Given the description of an element on the screen output the (x, y) to click on. 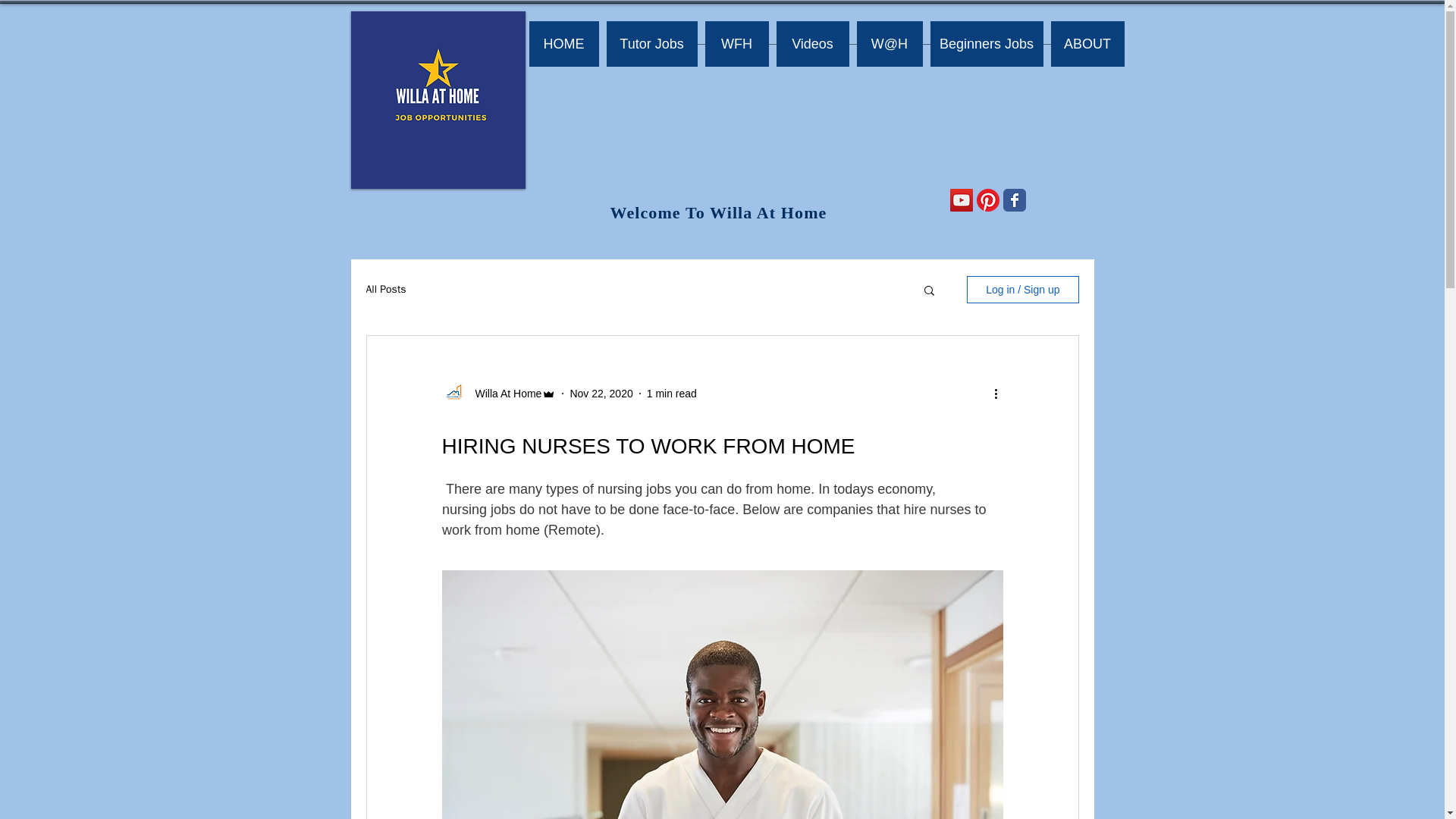
Nov 22, 2020 (600, 392)
WFH (736, 43)
Willa At Home (503, 392)
ABOUT (1087, 43)
All Posts (385, 289)
Videos (812, 43)
Beginners Jobs (986, 43)
Tutor Jobs (652, 43)
HOME (563, 43)
1 min read (671, 392)
